Given the description of an element on the screen output the (x, y) to click on. 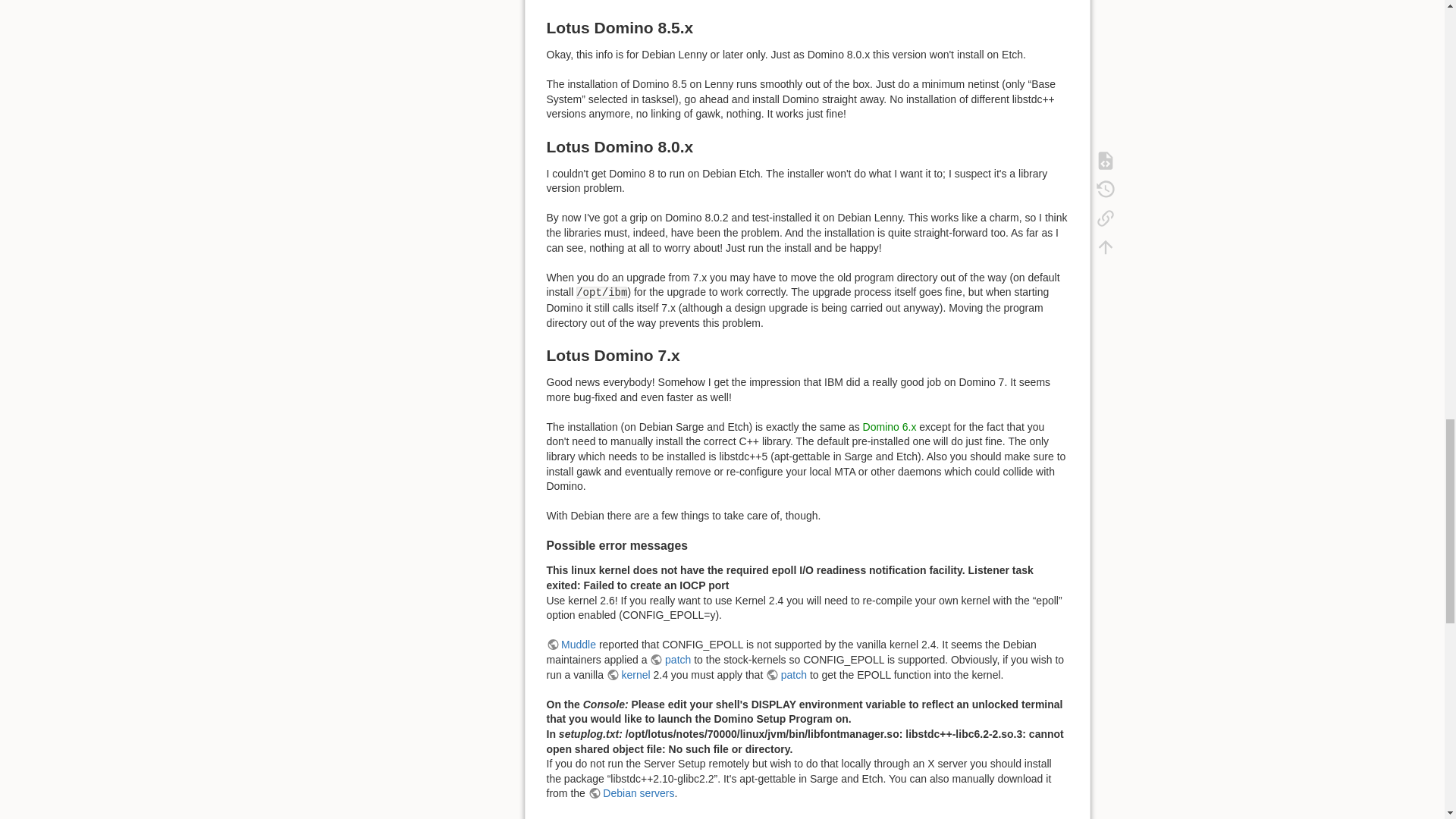
Muddle (570, 644)
patch (669, 659)
Domino 6.x (890, 426)
